Given the description of an element on the screen output the (x, y) to click on. 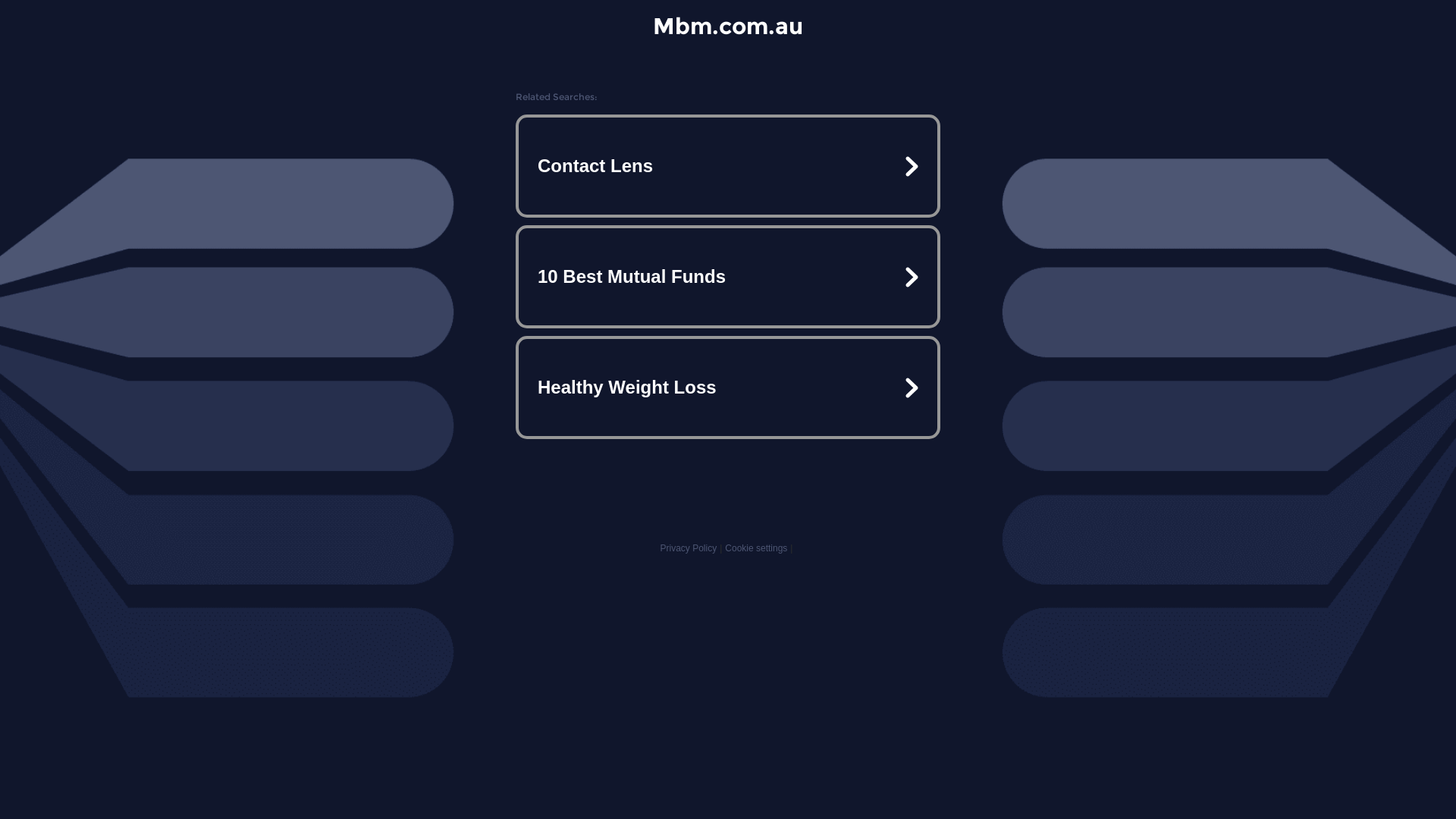
Contact Lens Element type: text (727, 165)
Healthy Weight Loss Element type: text (727, 387)
Mbm.com.au Element type: text (727, 26)
10 Best Mutual Funds Element type: text (727, 276)
Cookie settings Element type: text (755, 547)
Privacy Policy Element type: text (687, 547)
